Given the description of an element on the screen output the (x, y) to click on. 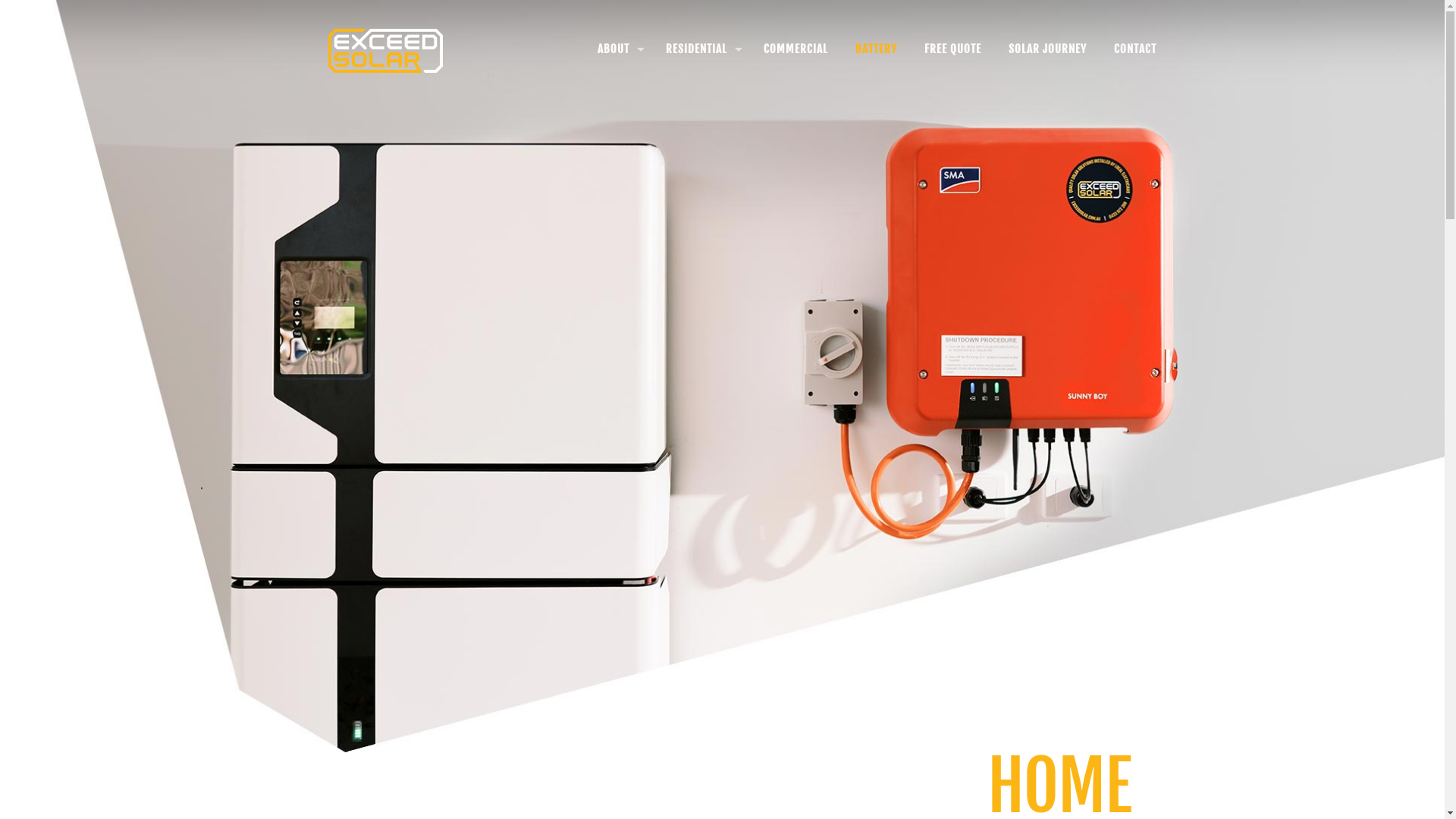
COMMERCIAL Element type: text (795, 49)
ABOUT Element type: text (617, 49)
RESIDENTIAL Element type: text (700, 49)
CONTACT Element type: text (1135, 49)
head-bg-battery-2 Element type: hover (722, 376)
BATTERY Element type: text (875, 49)
FREE QUOTE Element type: text (952, 49)
SOLAR JOURNEY Element type: text (1047, 49)
Exceed Solar Element type: hover (385, 49)
